Given the description of an element on the screen output the (x, y) to click on. 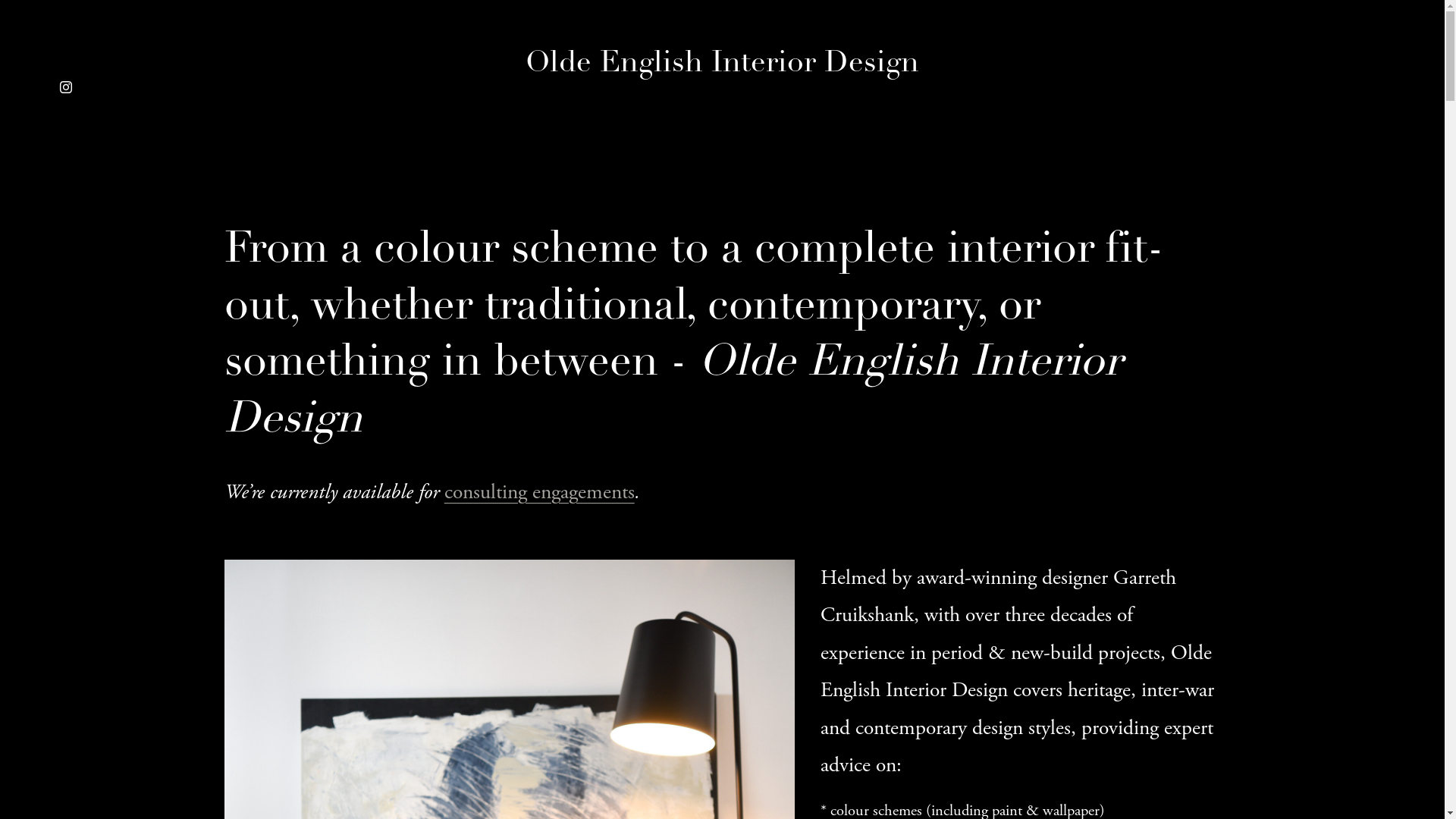
consulting engagements Element type: text (539, 492)
Olde English Interior Design Element type: text (722, 63)
